Given the description of an element on the screen output the (x, y) to click on. 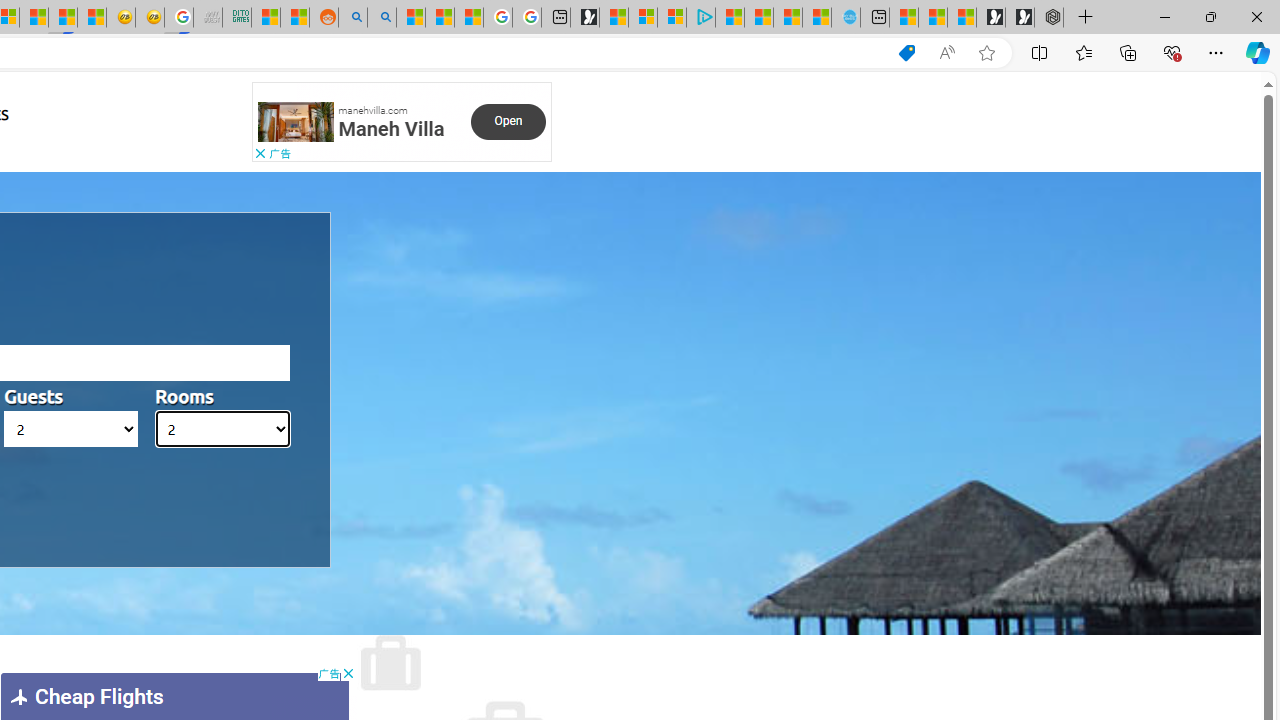
AutomationID: hotels_rooms (222, 429)
Maneh Villa (391, 128)
